Given the description of an element on the screen output the (x, y) to click on. 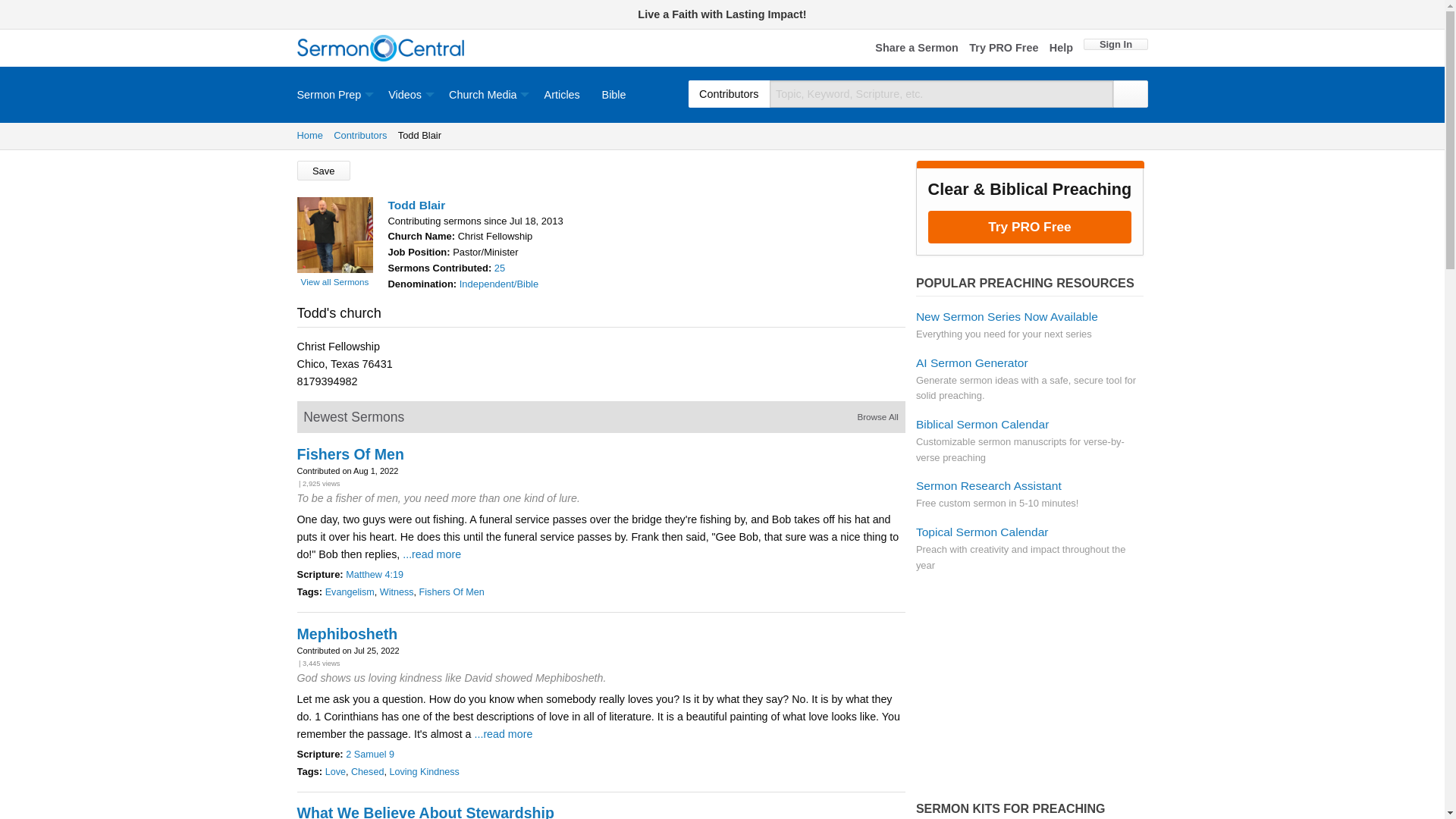
Help (1061, 48)
Church Media (486, 94)
Try PRO Free (1003, 48)
Sign In (1115, 43)
Videos (407, 94)
Articles (561, 94)
Sermon Prep (337, 94)
Share a Sermon (916, 48)
SermonCentral.com (380, 48)
Bible (614, 94)
